Given the description of an element on the screen output the (x, y) to click on. 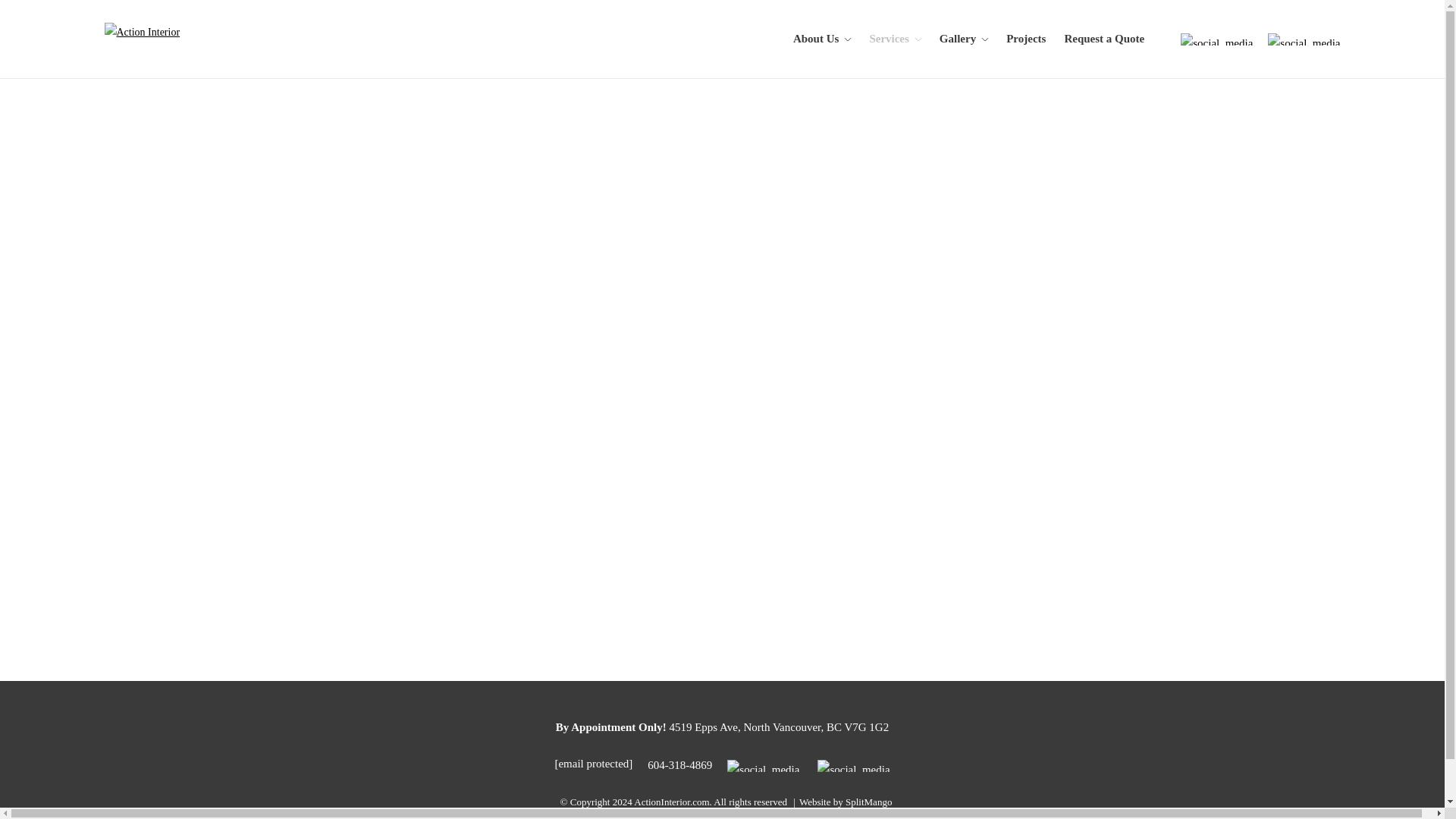
About Us (821, 38)
Services (894, 38)
